Given the description of an element on the screen output the (x, y) to click on. 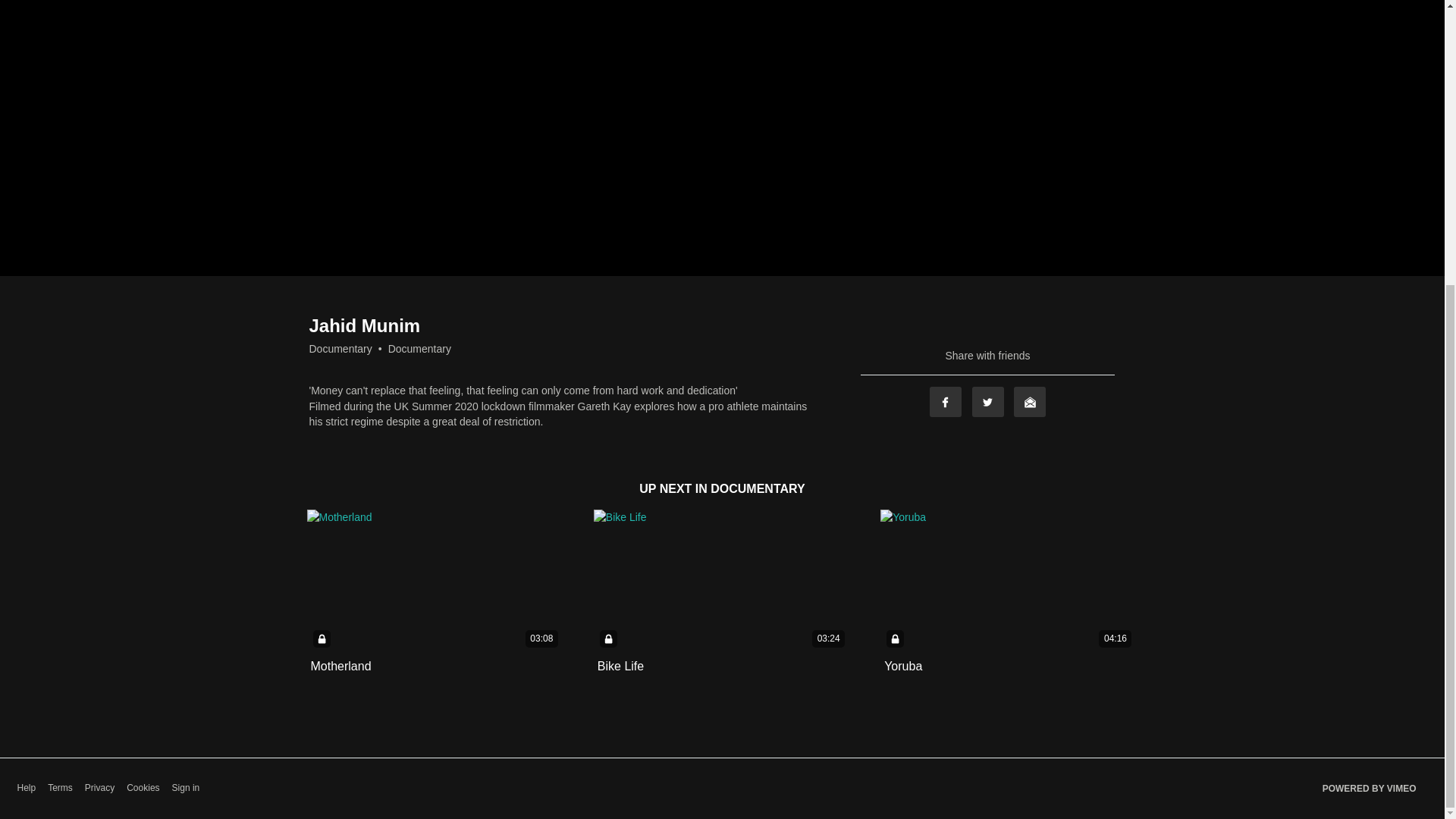
Bike Life (619, 666)
Motherland (341, 666)
Yoruba (902, 666)
04:16 (1008, 580)
POWERED BY VIMEO (1369, 788)
Help (25, 788)
03:24 (722, 580)
DOCUMENTARY (757, 488)
Privacy (99, 788)
03:08 (434, 580)
Twitter (988, 401)
Email (1029, 401)
Bike Life  (619, 666)
Sign in (185, 788)
Documentary (419, 348)
